Given the description of an element on the screen output the (x, y) to click on. 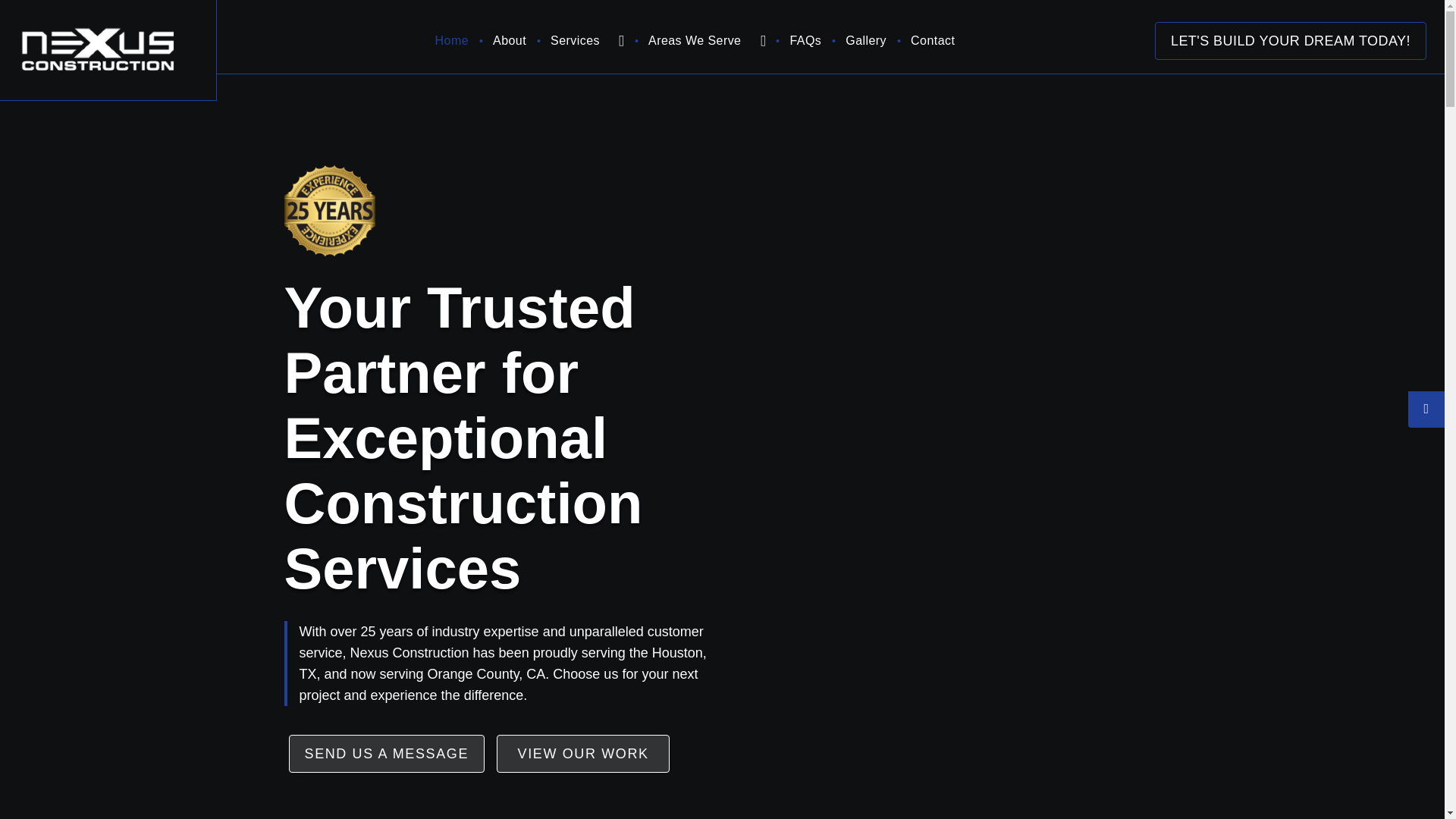
Contact (932, 40)
Areas We Serve (696, 40)
Services (577, 40)
Gallery (865, 40)
LET'S BUILD YOUR DREAM TODAY! (1290, 40)
25years experience (328, 210)
FAQs (804, 40)
About (509, 40)
Home (452, 40)
